Given the description of an element on the screen output the (x, y) to click on. 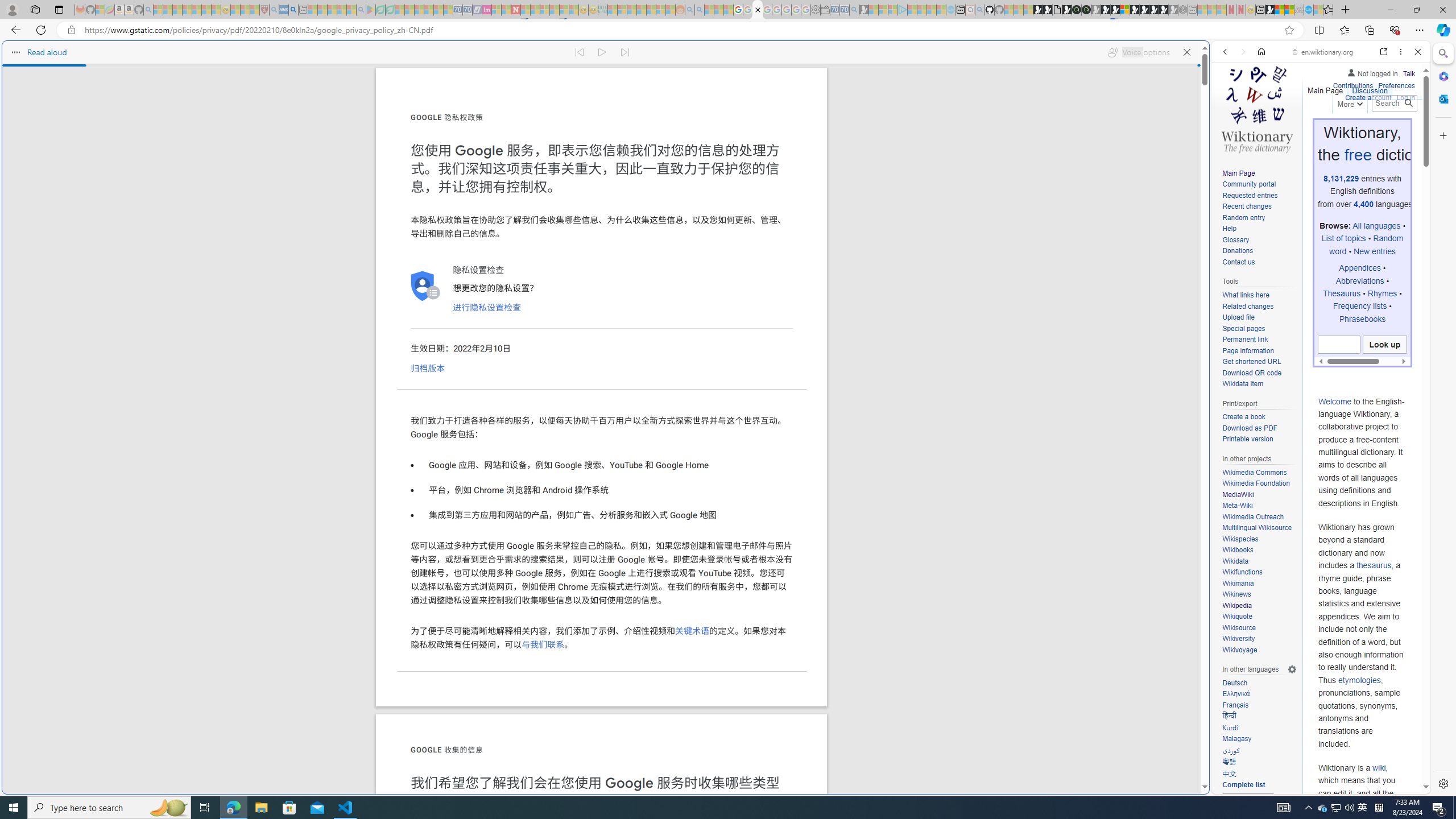
Wikisource (1238, 627)
Special pages (1243, 328)
Wikinews (1259, 594)
Contributions (1352, 85)
Discussion (1369, 87)
Go (1408, 102)
Wikimedia Outreach (1259, 517)
Utah sues federal government - Search - Sleeping (699, 9)
DITOGAMES AG Imprint - Sleeping (602, 9)
Cheap Car Rentals - Save70.com - Sleeping (844, 9)
